Given the description of an element on the screen output the (x, y) to click on. 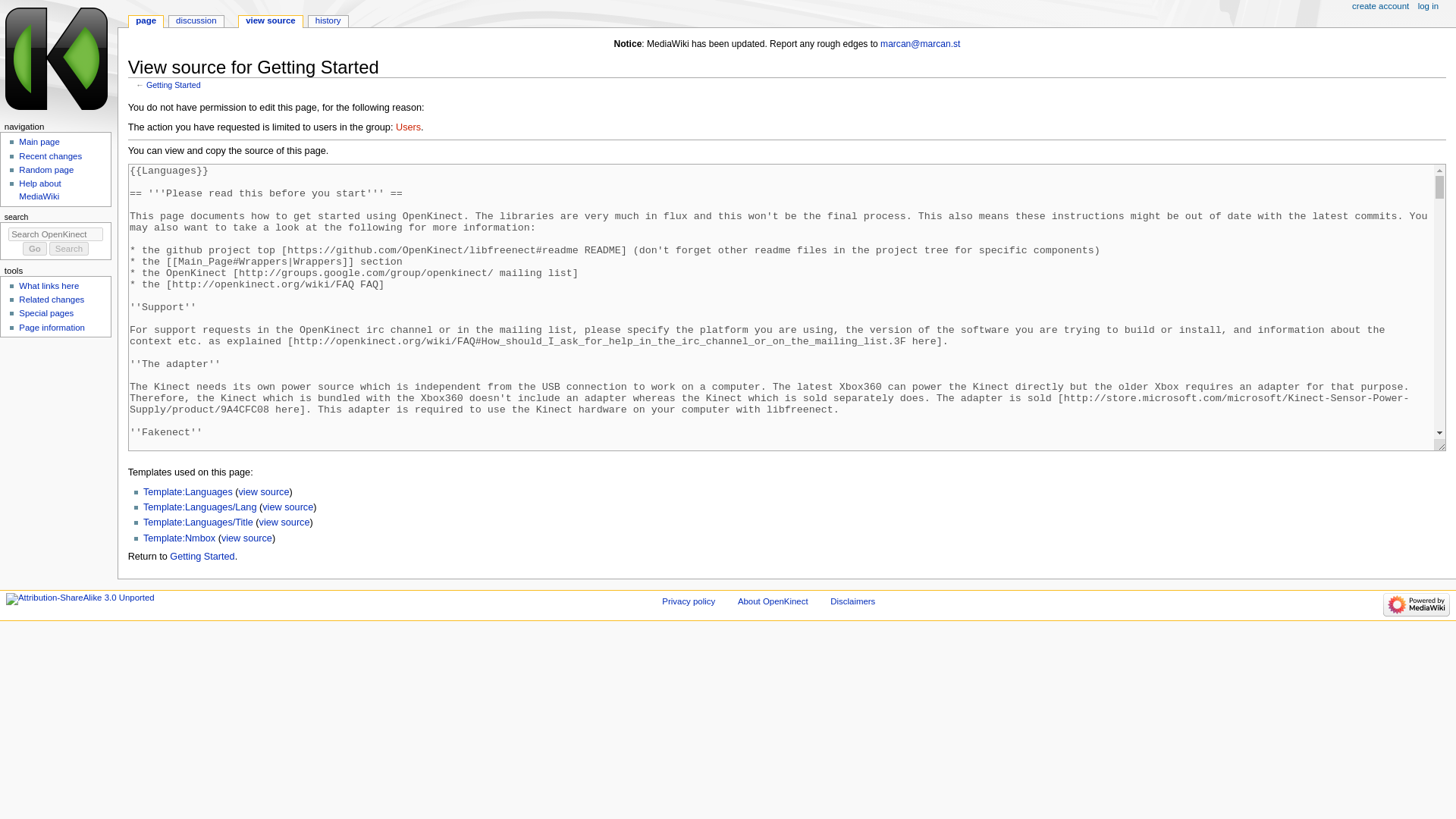
Getting Started (202, 556)
Recent changes (49, 155)
Main page (38, 141)
view source (270, 21)
Template:Languages (187, 491)
view source (284, 521)
history (327, 21)
Random page (46, 169)
create account (1380, 6)
Search (68, 248)
discussion (196, 21)
What links here (48, 285)
Search (68, 248)
Go (34, 248)
view source (287, 507)
